Given the description of an element on the screen output the (x, y) to click on. 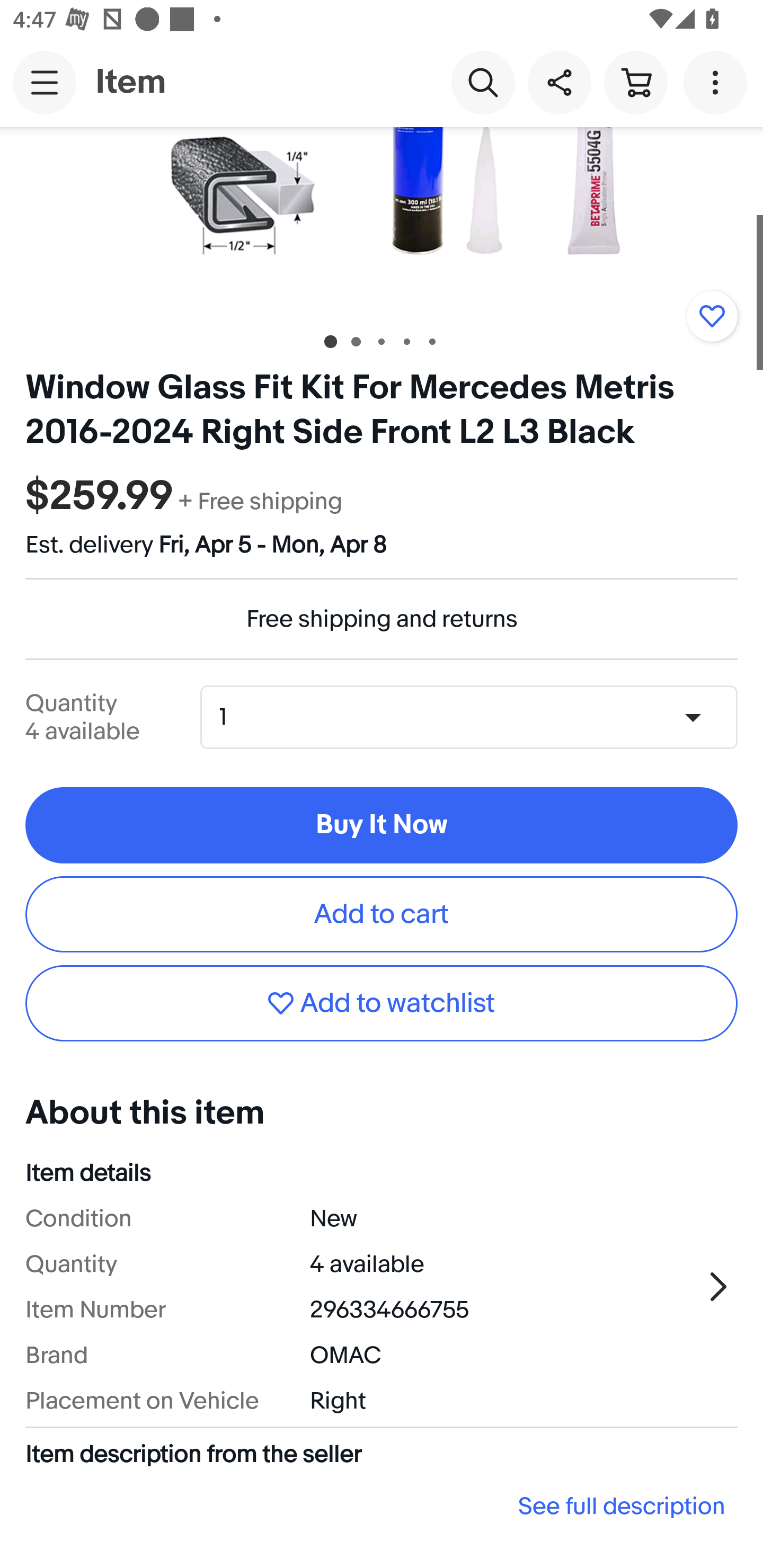
Main navigation, open (44, 82)
Search (482, 81)
Share this item (559, 81)
Cart button shopping cart (635, 81)
More options (718, 81)
Item image 1 of 10 (381, 221)
Add to watchlist (711, 315)
Quantity,1,4 available 1 (474, 716)
Buy It Now (381, 825)
Add to cart (381, 913)
Add to watchlist (381, 1003)
See full description (381, 1505)
